Given the description of an element on the screen output the (x, y) to click on. 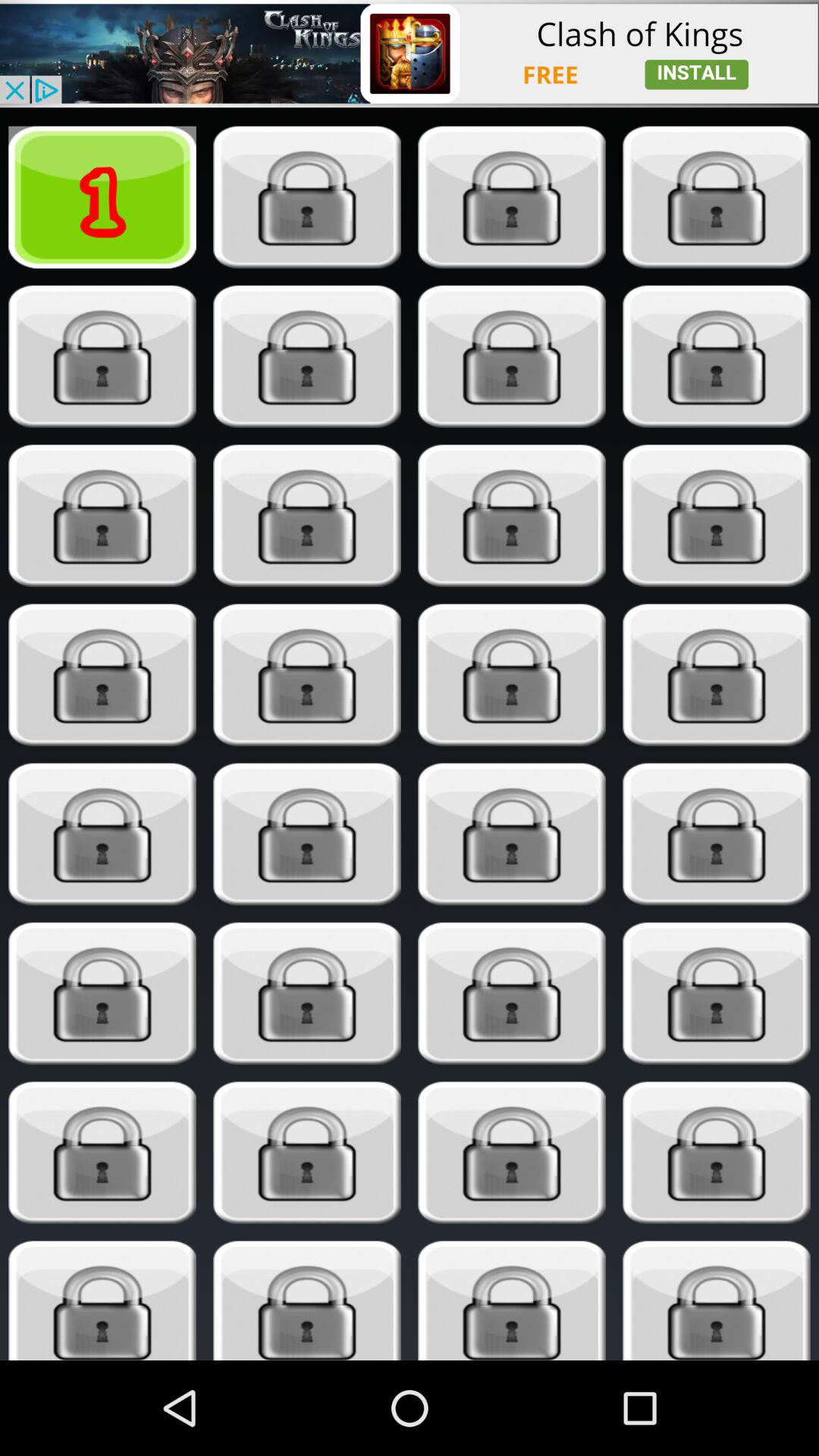
unlock next item (102, 834)
